Given the description of an element on the screen output the (x, y) to click on. 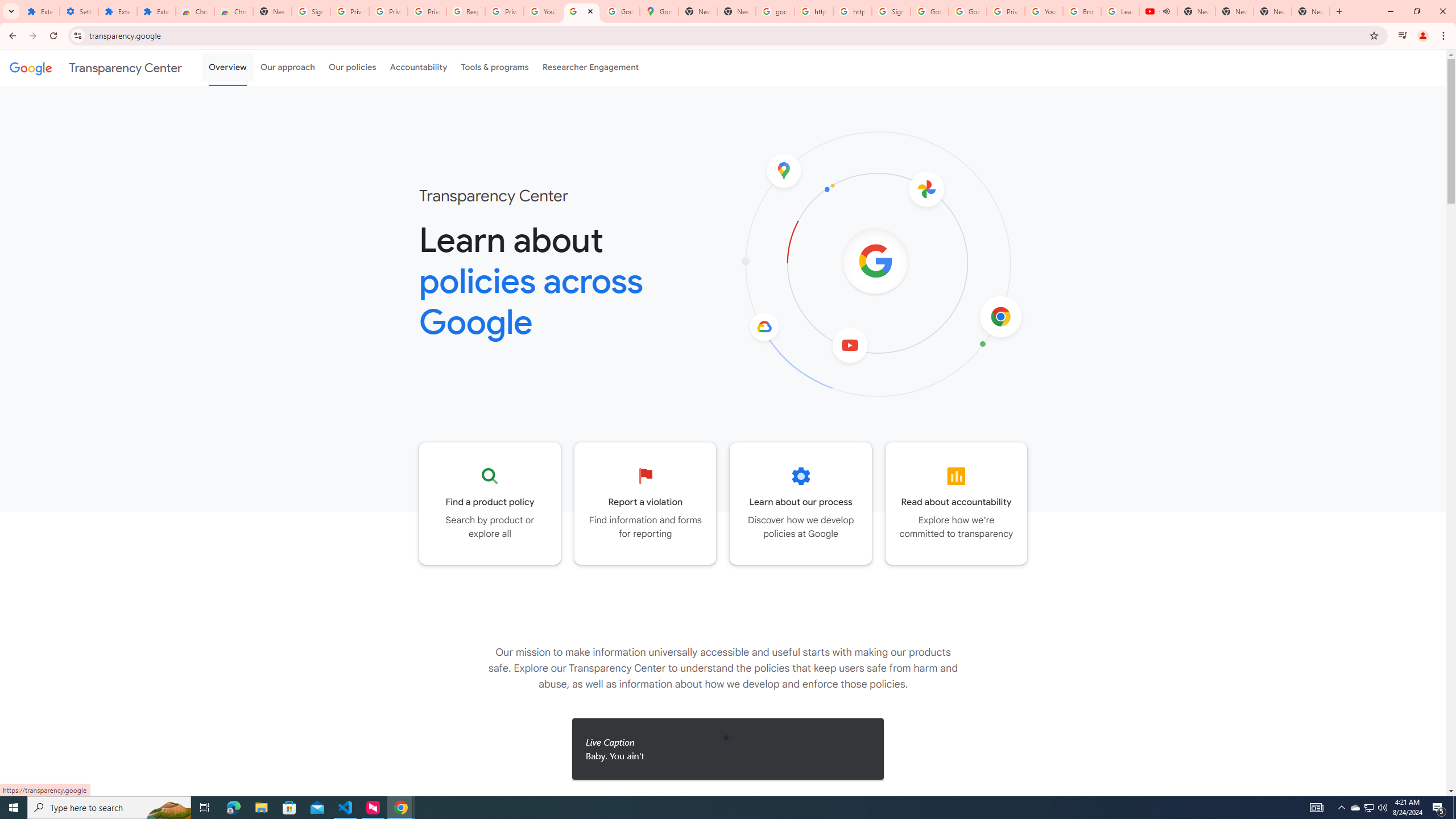
Accountability (418, 67)
Google Maps (659, 11)
Transparency Center (95, 67)
New Tab (272, 11)
Chrome Web Store (194, 11)
Sign in - Google Accounts (310, 11)
